Given the description of an element on the screen output the (x, y) to click on. 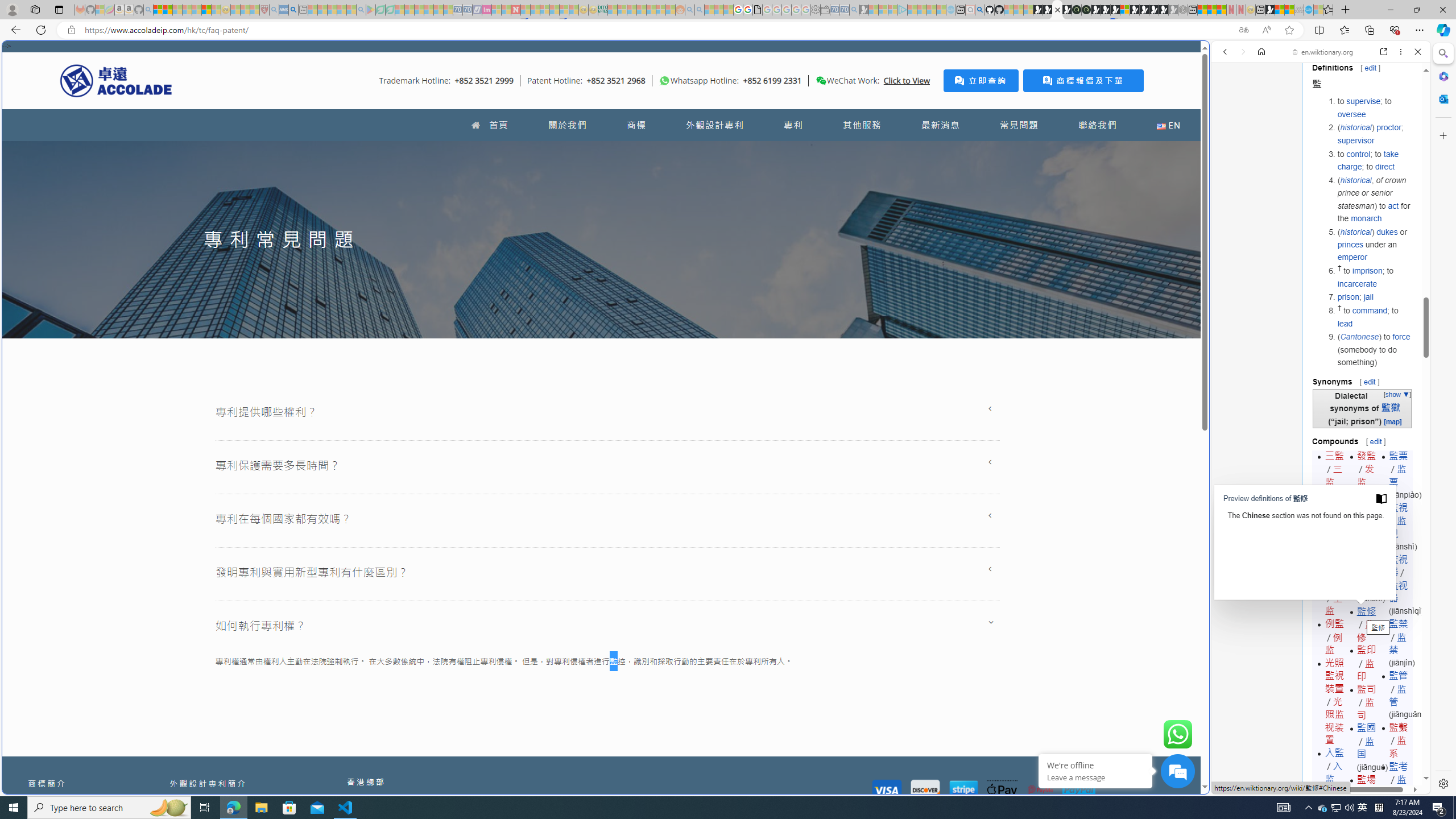
utah sues federal government - Search (922, 389)
Actions for this site (1370, 583)
Home (1261, 51)
